Given the description of an element on the screen output the (x, y) to click on. 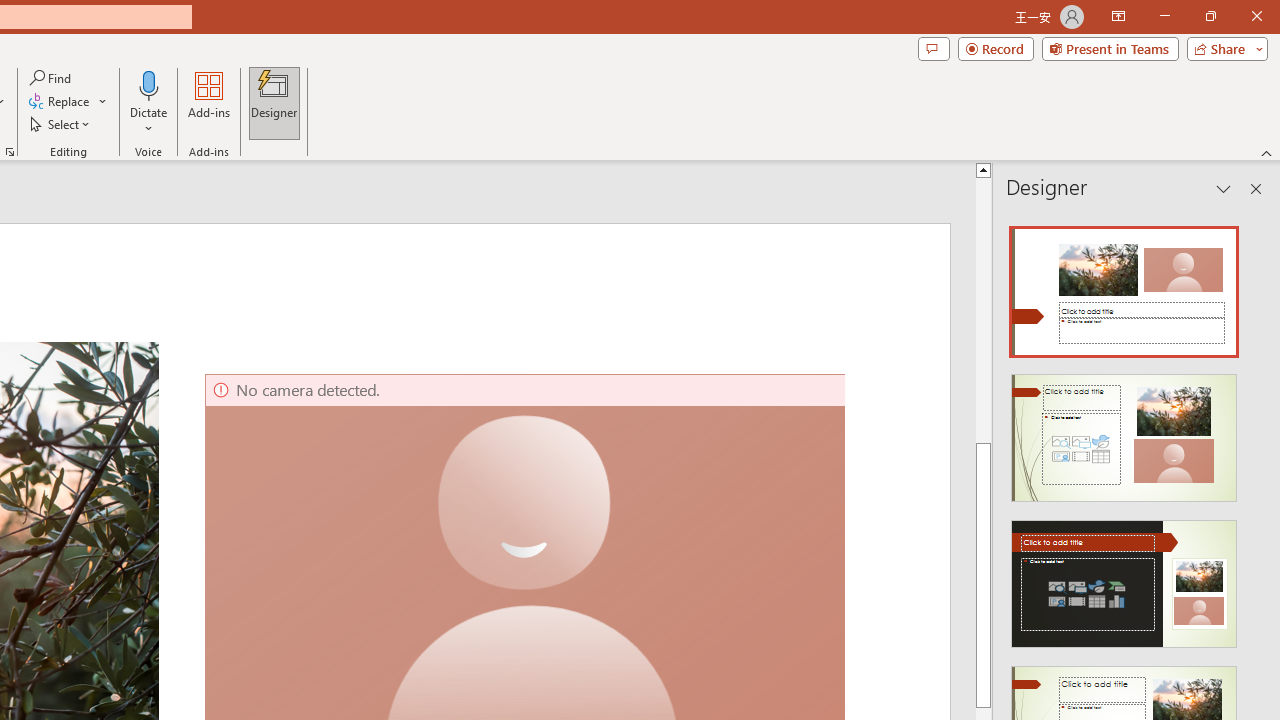
Replace... (60, 101)
Task Pane Options (1224, 188)
Designer (274, 102)
Select (61, 124)
Find... (51, 78)
Restore Down (1210, 16)
Dictate (149, 84)
